Given the description of an element on the screen output the (x, y) to click on. 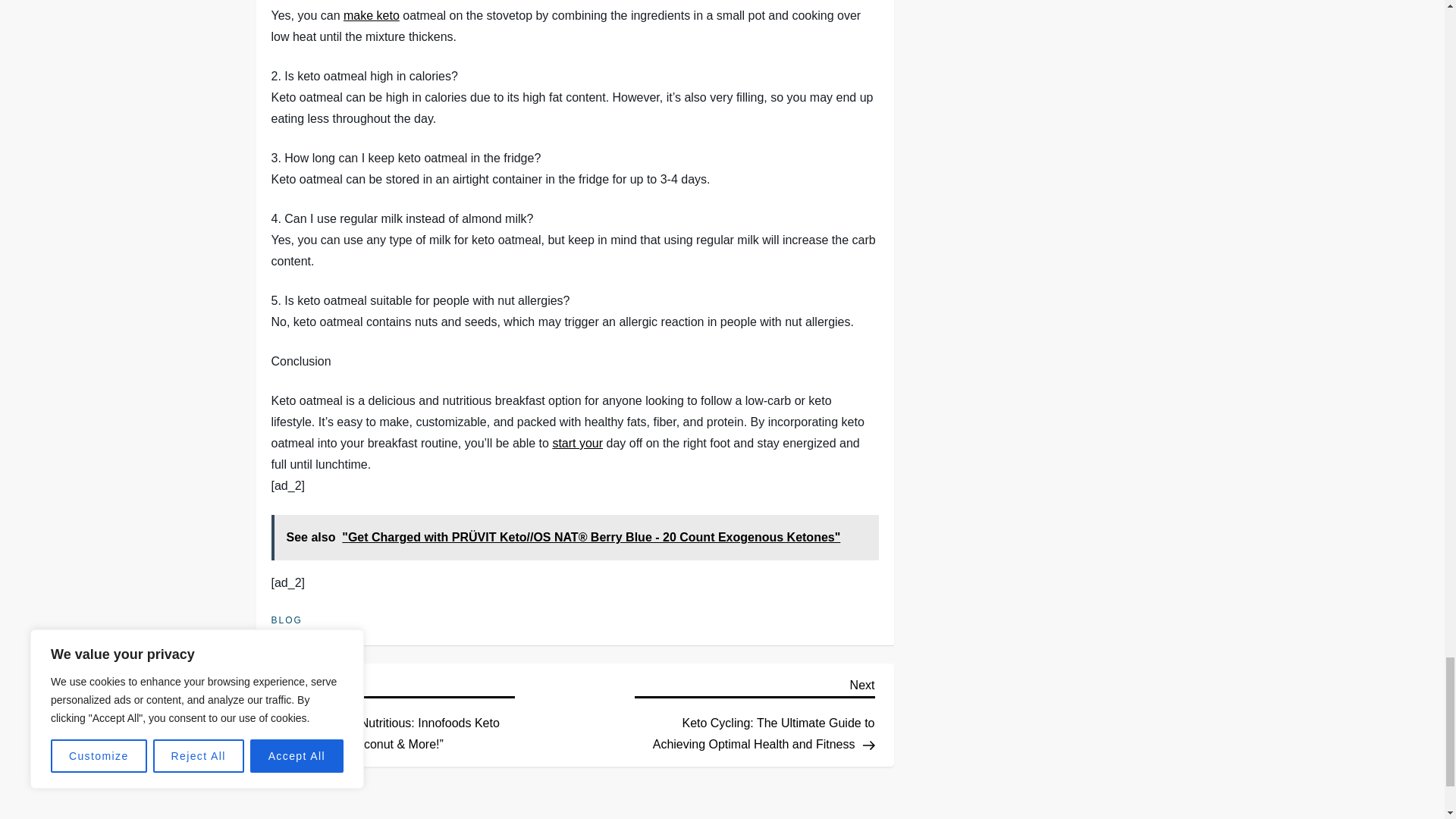
make keto (344, 0)
make keto (344, 0)
start your (576, 442)
make keto (370, 15)
start your (576, 442)
BLOG (286, 621)
make keto (370, 15)
